Given the description of an element on the screen output the (x, y) to click on. 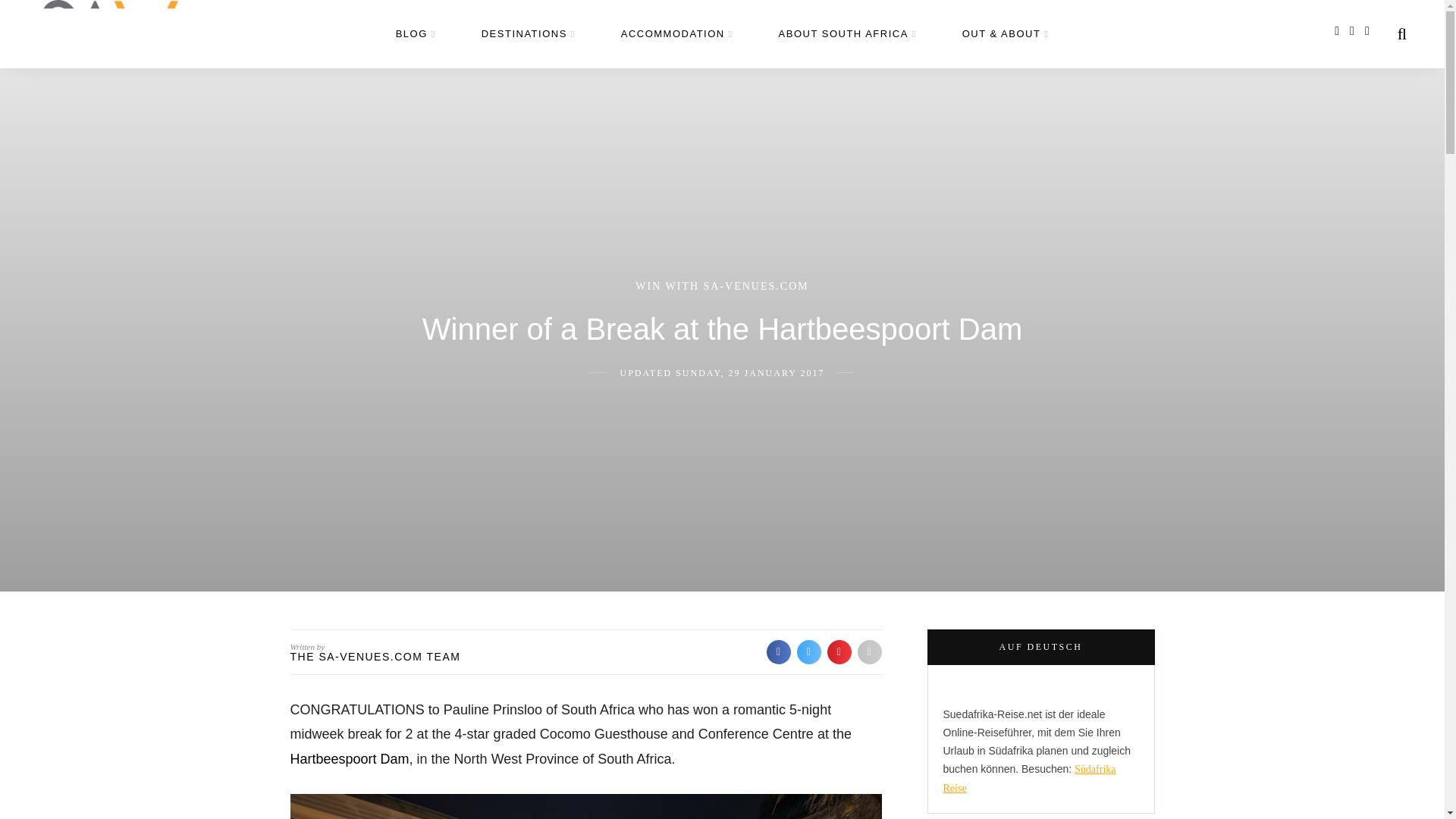
Posts by The SA-Venues.com Team (374, 656)
